Given the description of an element on the screen output the (x, y) to click on. 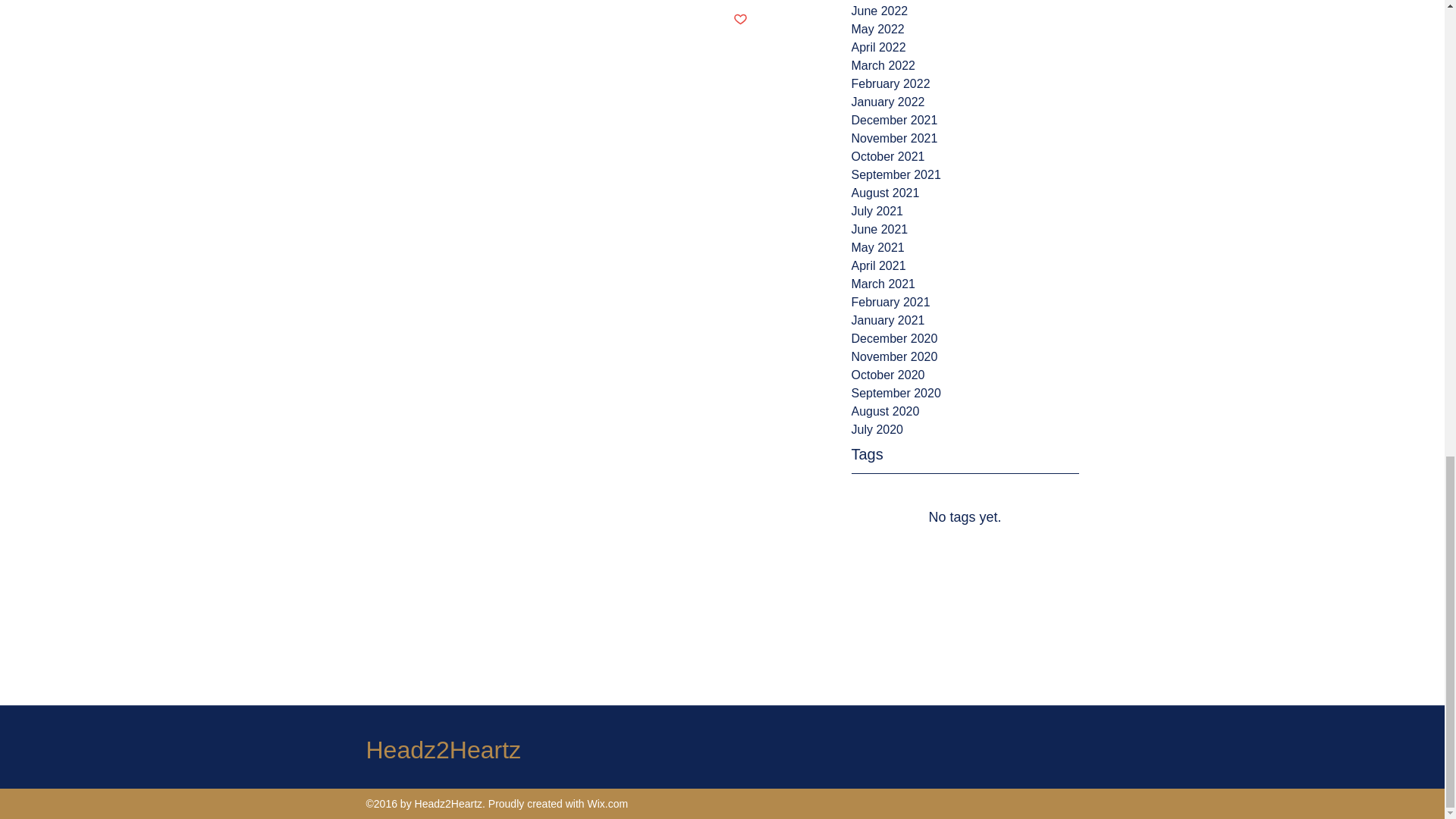
December 2021 (964, 120)
June 2022 (964, 11)
October 2021 (964, 157)
March 2022 (964, 65)
November 2021 (964, 138)
April 2022 (964, 47)
January 2022 (964, 102)
May 2022 (964, 29)
February 2022 (964, 84)
